Given the description of an element on the screen output the (x, y) to click on. 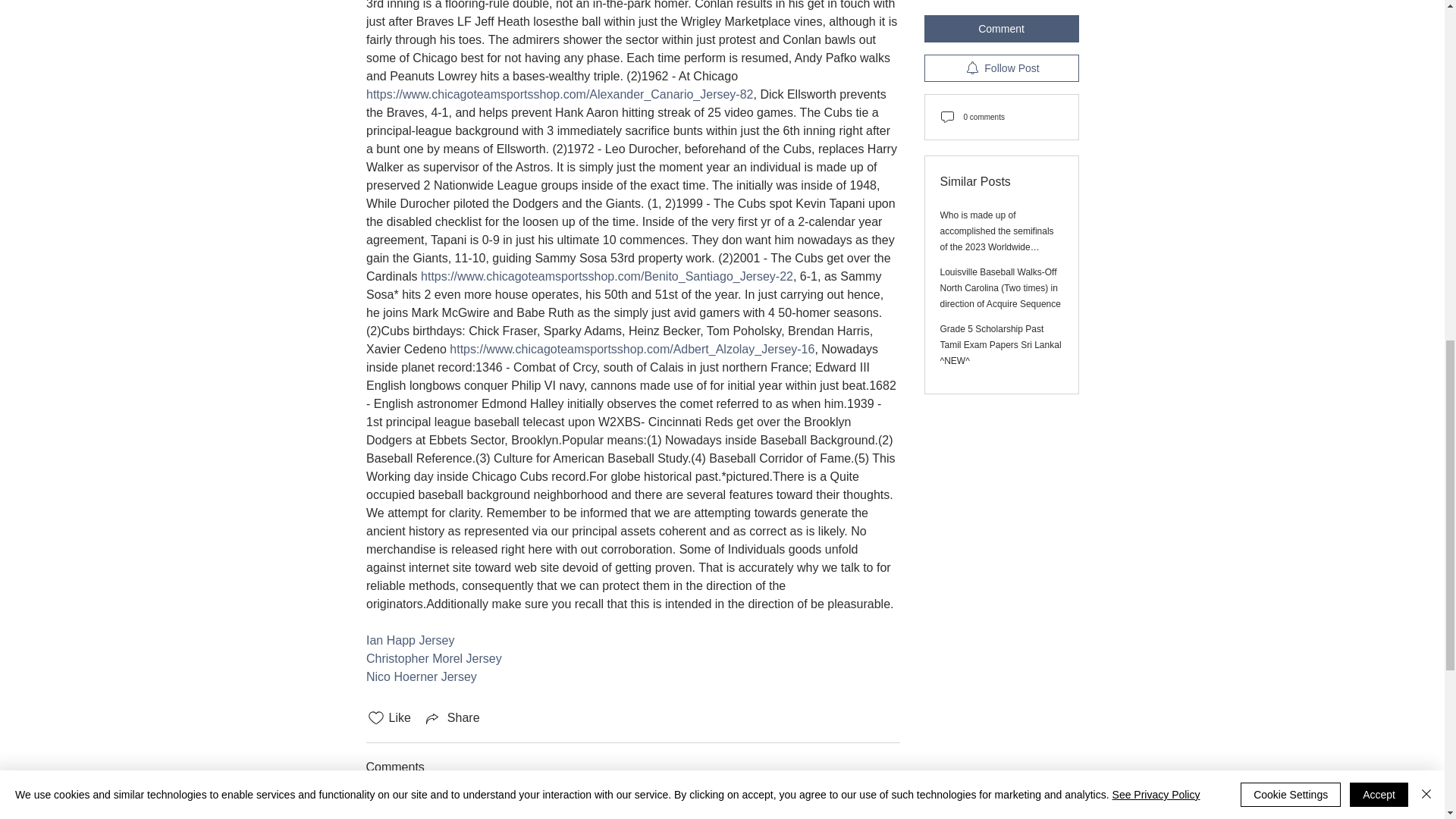
Share (451, 718)
Ian Happ Jersey (409, 640)
Write a comment... (632, 808)
Nico Hoerner Jersey (420, 676)
Christopher Morel Jersey (432, 658)
